Given the description of an element on the screen output the (x, y) to click on. 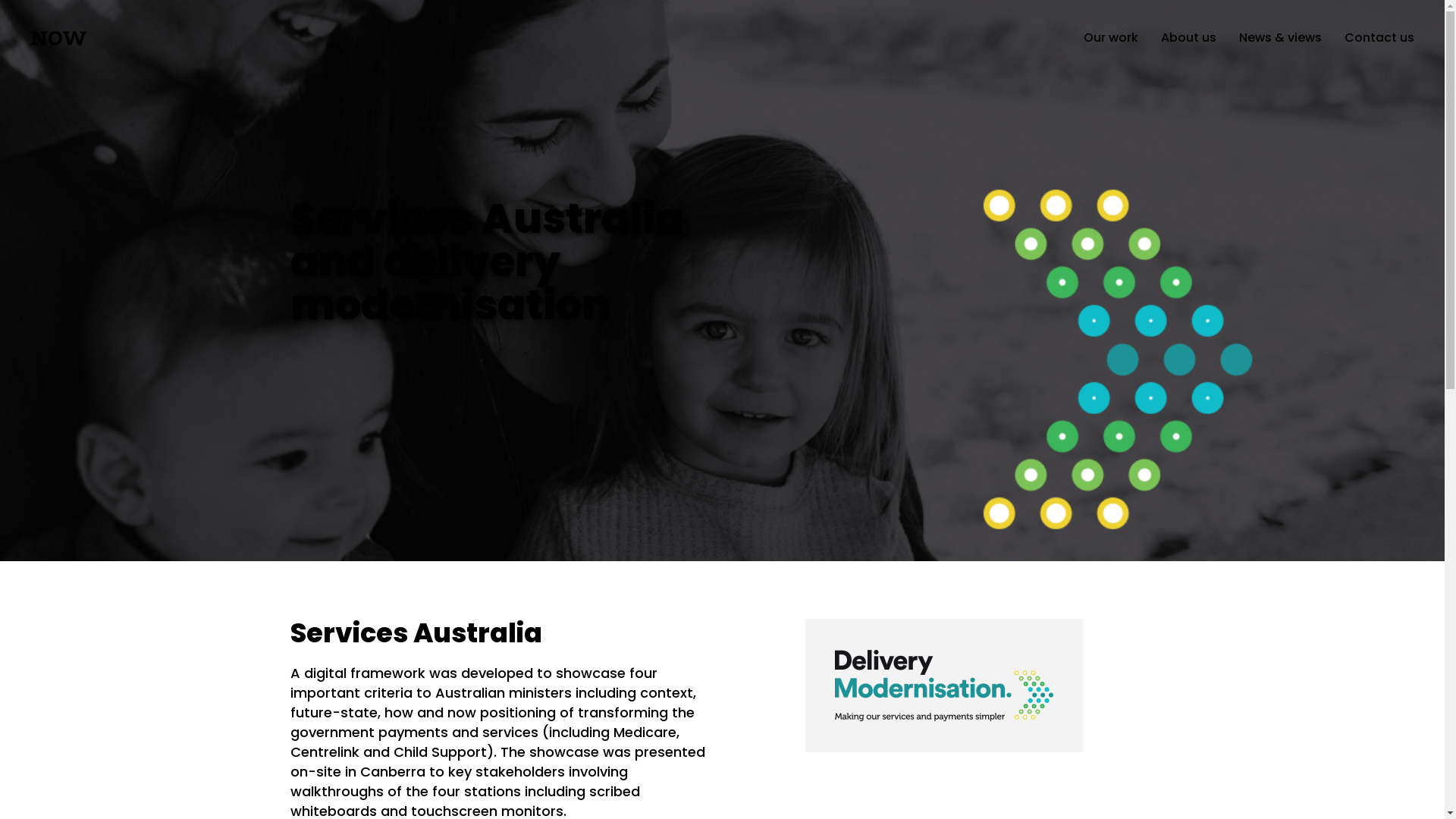
About us Element type: text (1188, 37)
News & views Element type: text (1280, 37)
NOW Digital Agency Element type: hover (59, 36)
Our work Element type: text (1110, 37)
Contact us Element type: text (1379, 37)
